Given the description of an element on the screen output the (x, y) to click on. 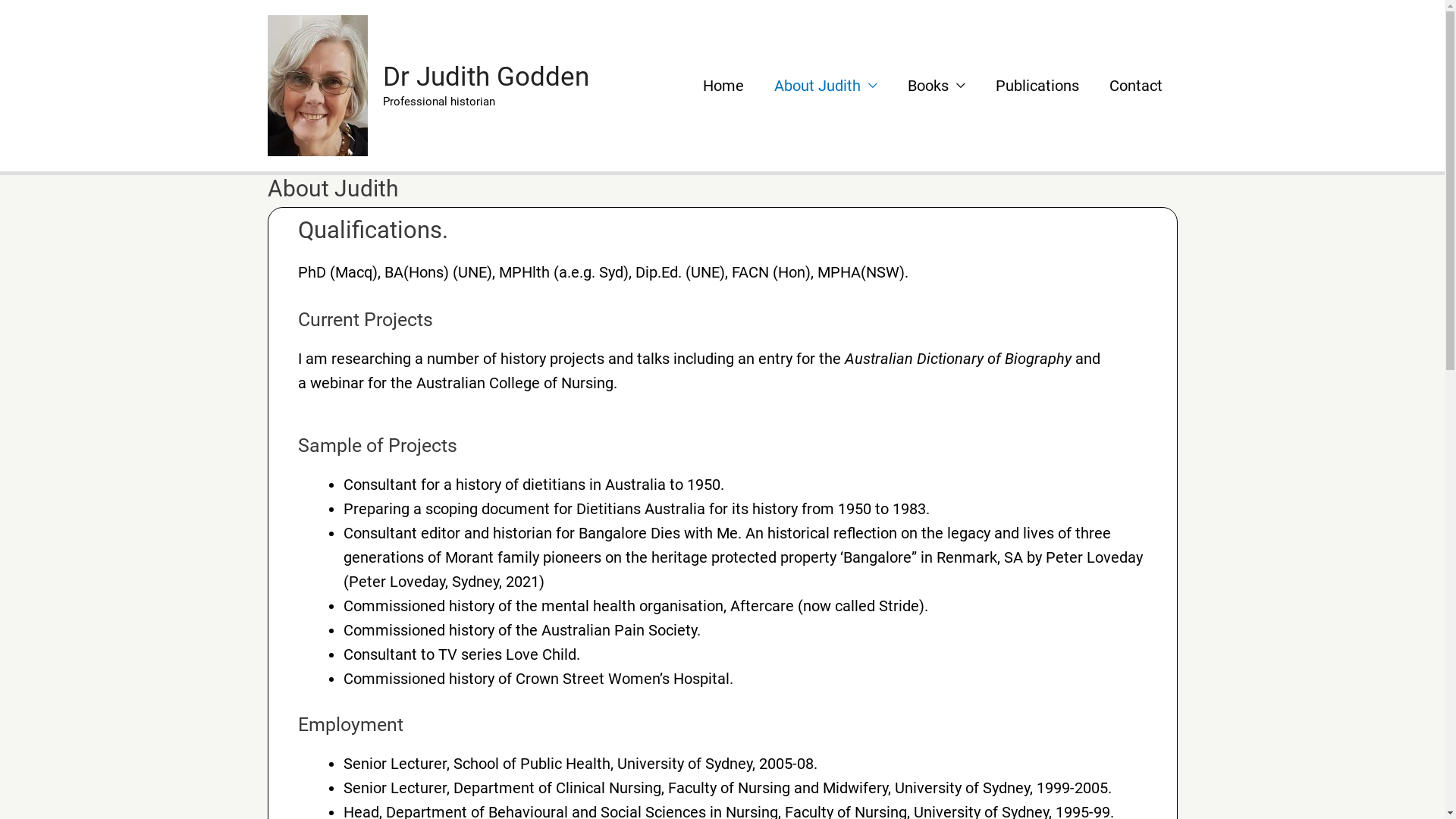
Books Element type: text (935, 85)
Publications Element type: text (1036, 85)
Contact Element type: text (1134, 85)
Home Element type: text (722, 85)
Dr Judith Godden Element type: text (485, 76)
About Judith Element type: text (824, 85)
